Given the description of an element on the screen output the (x, y) to click on. 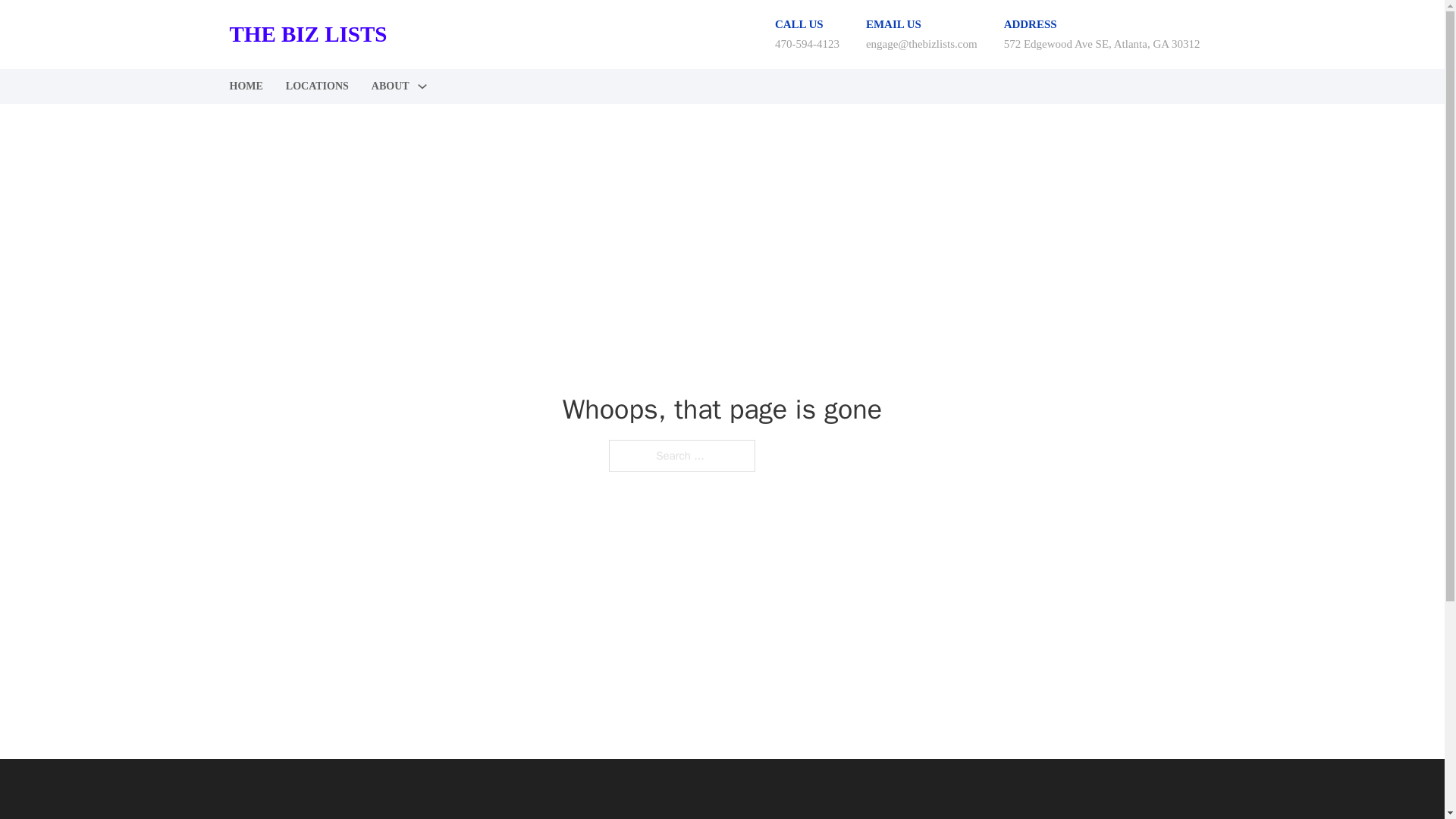
HOME (245, 85)
THE BIZ LISTS (307, 34)
THE BIZ LISTS (307, 817)
470-594-4123 (807, 43)
LOCATIONS (317, 85)
